Given the description of an element on the screen output the (x, y) to click on. 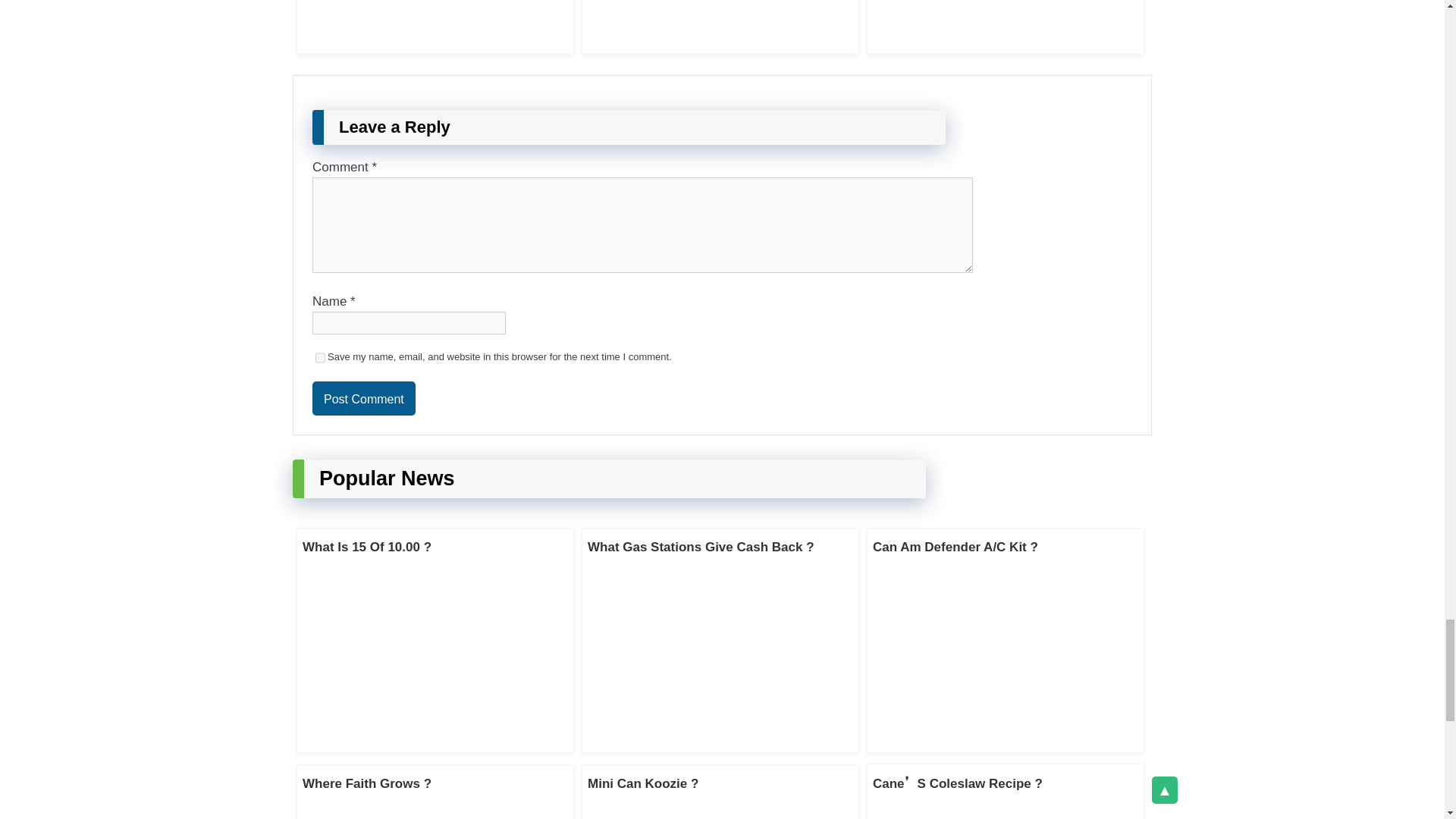
What Is 15 Of 10.00 ? (366, 546)
Where Faith Grows ? (366, 783)
What Gas Stations Give Cash Back ? (700, 546)
Mini Can Koozie ? (643, 783)
Post Comment (363, 398)
Post Comment (363, 398)
